Given the description of an element on the screen output the (x, y) to click on. 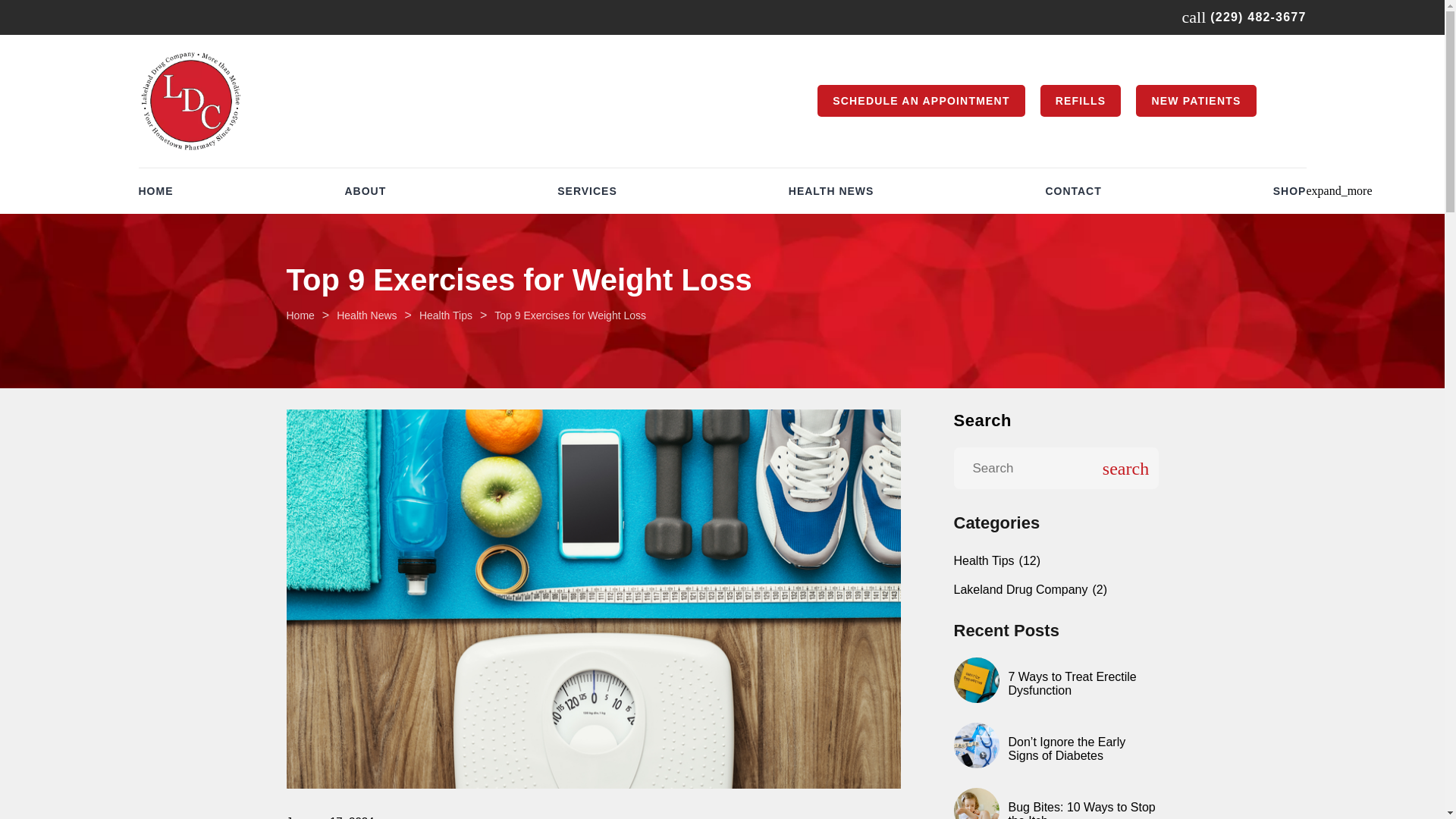
Top 9 Exercises for Weight Loss (570, 315)
Bug Bites: 10 Ways to Stop the Itch (1082, 809)
SHOP (1289, 191)
SERVICES (587, 191)
HEALTH NEWS (832, 191)
HOME (155, 191)
7 Ways to Treat Erectile Dysfunction (1073, 683)
Health News (366, 315)
SCHEDULE AN APPOINTMENT (920, 101)
REFILLS (1081, 101)
CONTACT (1072, 191)
Home (300, 315)
ABOUT (364, 191)
Health Tips (445, 315)
NEW PATIENTS (1195, 101)
